Given the description of an element on the screen output the (x, y) to click on. 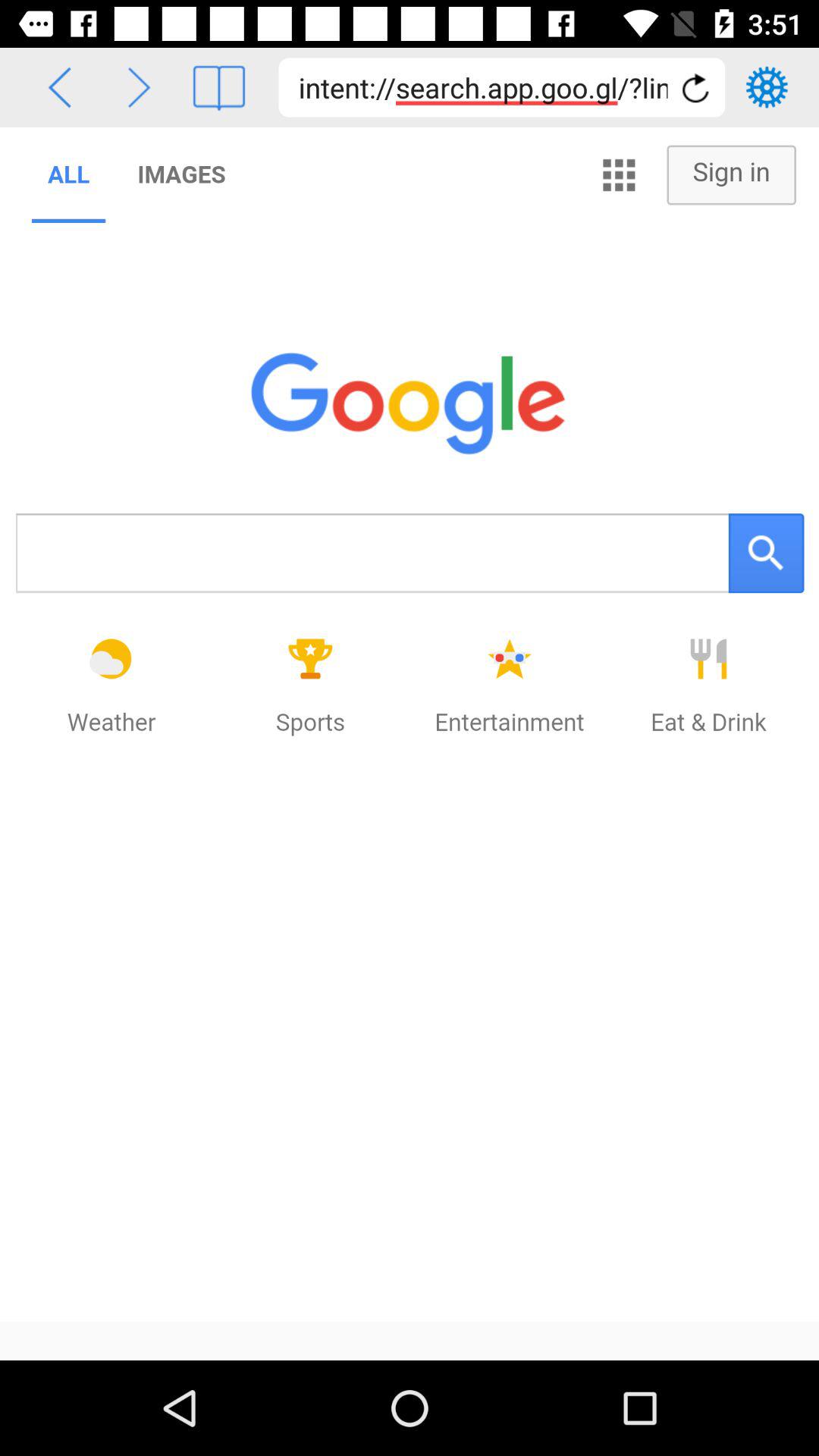
add to bookmarks (218, 87)
